Given the description of an element on the screen output the (x, y) to click on. 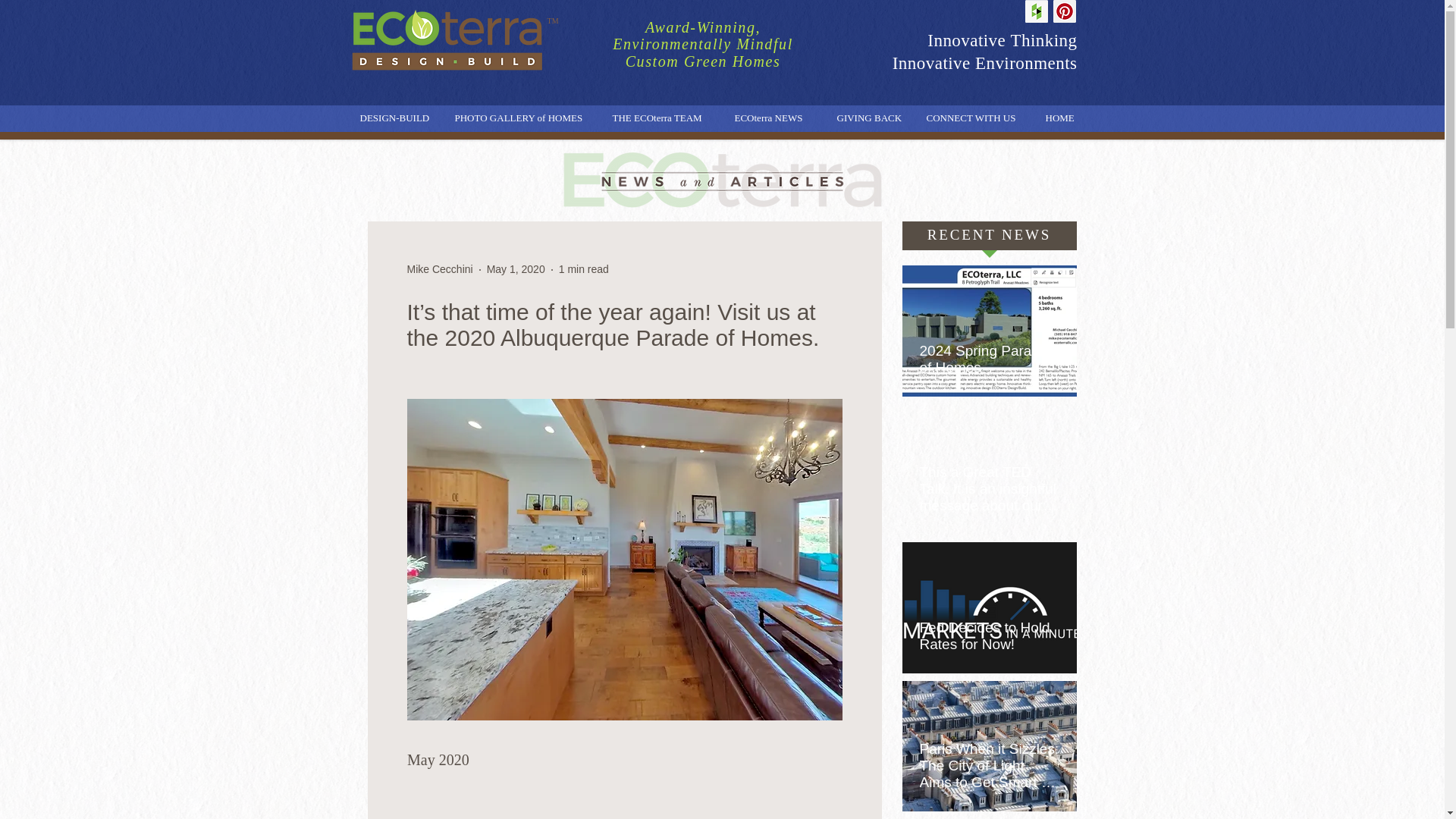
THE ECOterra TEAM (665, 122)
Award-Winning, Environmentally Mindful Custom Green Homes (702, 43)
Mike Cecchini (438, 269)
ECOterra NEWS (777, 122)
PHOTO GALLERY of HOMES (525, 122)
GIVING BACK (873, 122)
May 1, 2020 (515, 268)
1 min read (583, 268)
TM (553, 20)
DESIGN-BUILD (399, 122)
